Given the description of an element on the screen output the (x, y) to click on. 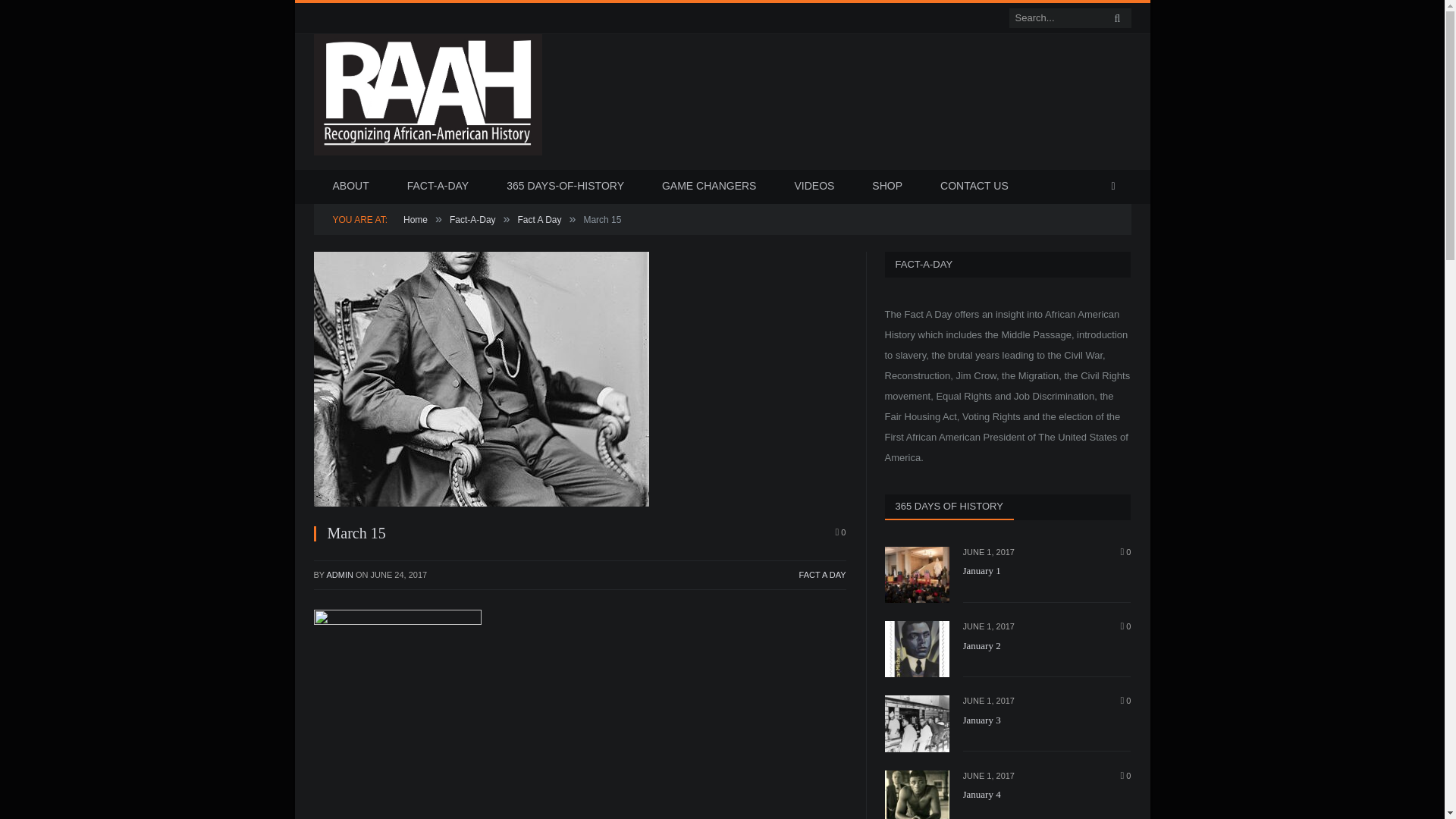
Fact-A-Day (472, 219)
2017-06-24 (399, 574)
FACT A DAY (822, 574)
Posts by admin (339, 574)
FACT-A-DAY (437, 186)
365 DAYS-OF-HISTORY (565, 186)
Home (415, 219)
SHOP (887, 186)
RAAH (427, 148)
ABOUT (351, 186)
ADMIN (339, 574)
CONTACT US (974, 186)
Fact A Day (538, 219)
VIDEOS (813, 186)
